Given the description of an element on the screen output the (x, y) to click on. 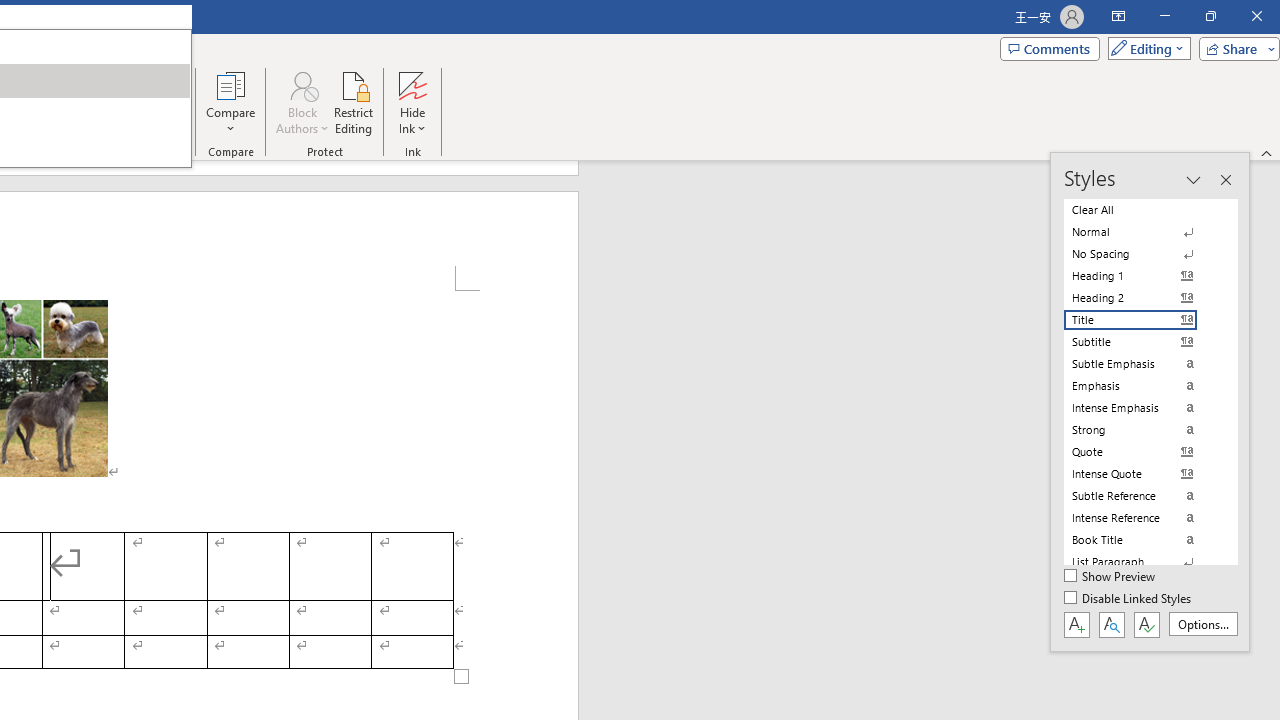
Compare (230, 102)
Collapse the Ribbon (1267, 152)
Block Authors (302, 102)
List Paragraph (1142, 561)
Disable Linked Styles (1129, 599)
Quote (1142, 451)
Emphasis (1142, 385)
Subtle Reference (1142, 495)
Change Tracking Options... (13, 151)
Close (1256, 16)
Previous (150, 78)
Ribbon Display Options (1118, 16)
Editing (1144, 47)
